Given the description of an element on the screen output the (x, y) to click on. 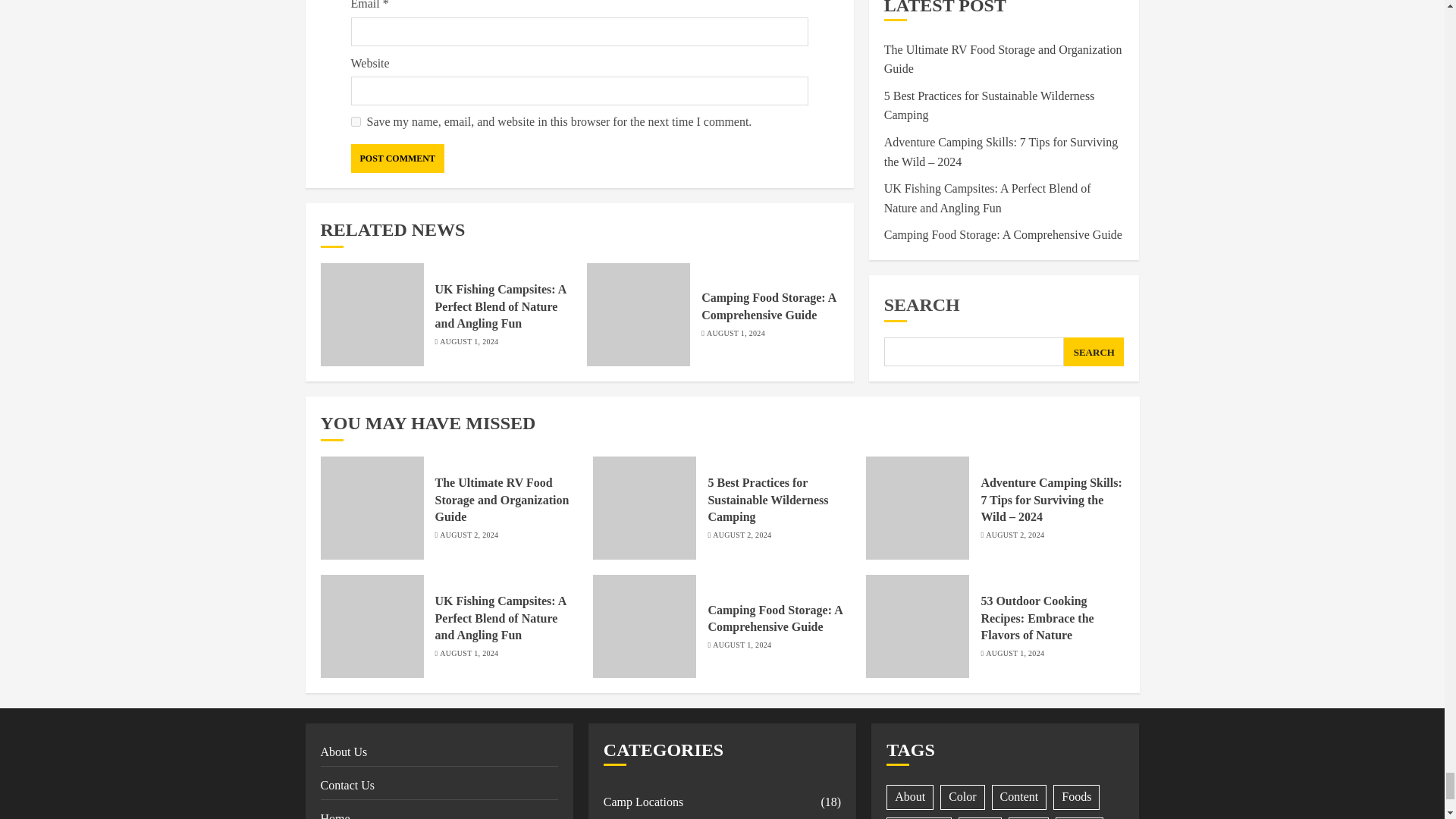
Camping Food Storage: A Comprehensive Guide (768, 306)
Post Comment (397, 158)
AUGUST 1, 2024 (468, 341)
yes (354, 121)
Post Comment (397, 158)
AUGUST 1, 2024 (735, 333)
